Given the description of an element on the screen output the (x, y) to click on. 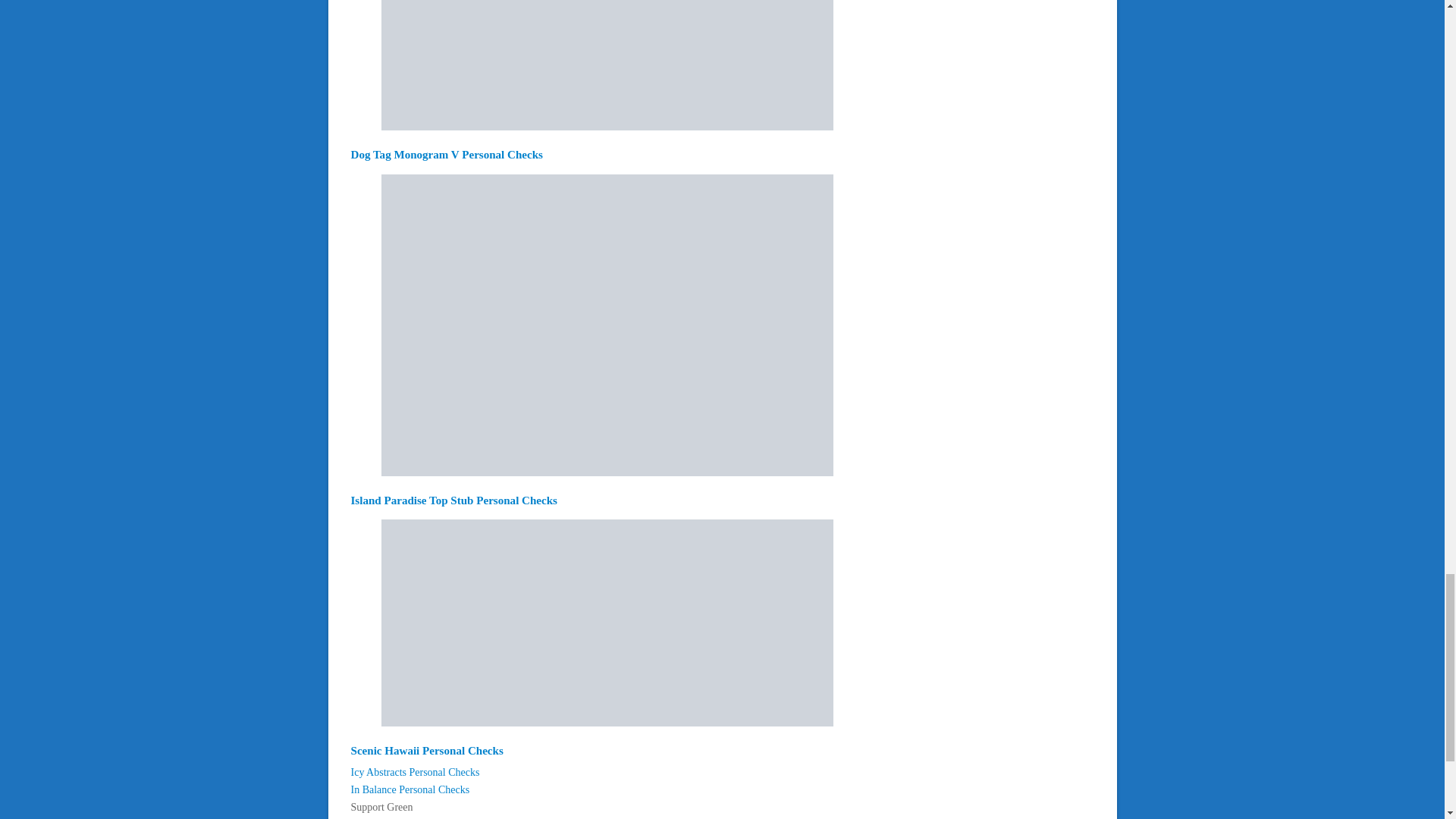
Dog Tag Monogram V Personal Checks (606, 126)
Dog Tag Monogram V Personal Checks (445, 154)
Island Paradise Top Stub Personal Checks (453, 500)
Scenic Hawaii Personal Checks (426, 750)
